Given the description of an element on the screen output the (x, y) to click on. 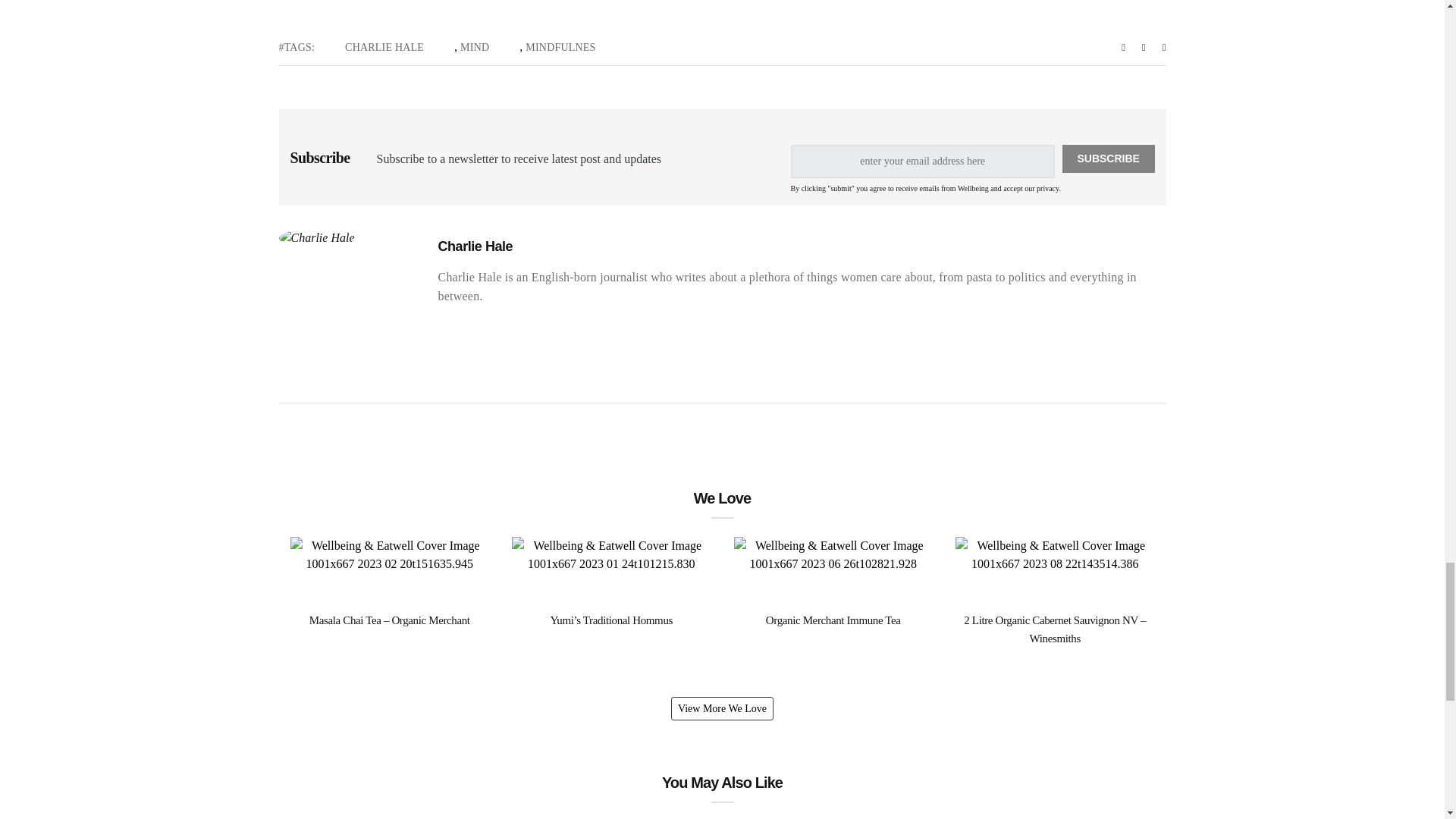
View More We Love (722, 708)
CHARLIE HALE (384, 47)
MINDFULNES (560, 47)
SUBSCRIBE (1108, 158)
MIND (474, 47)
